Given the description of an element on the screen output the (x, y) to click on. 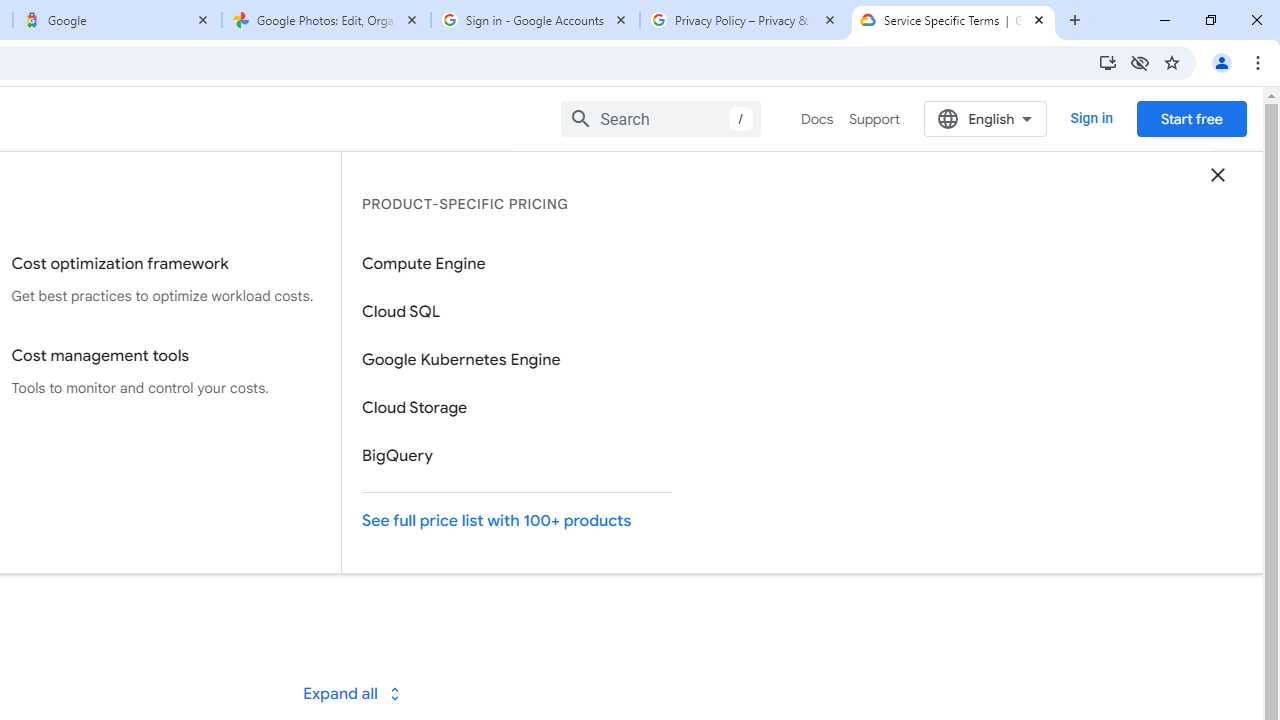
See full price list with 100+ products (517, 520)
